Given the description of an element on the screen output the (x, y) to click on. 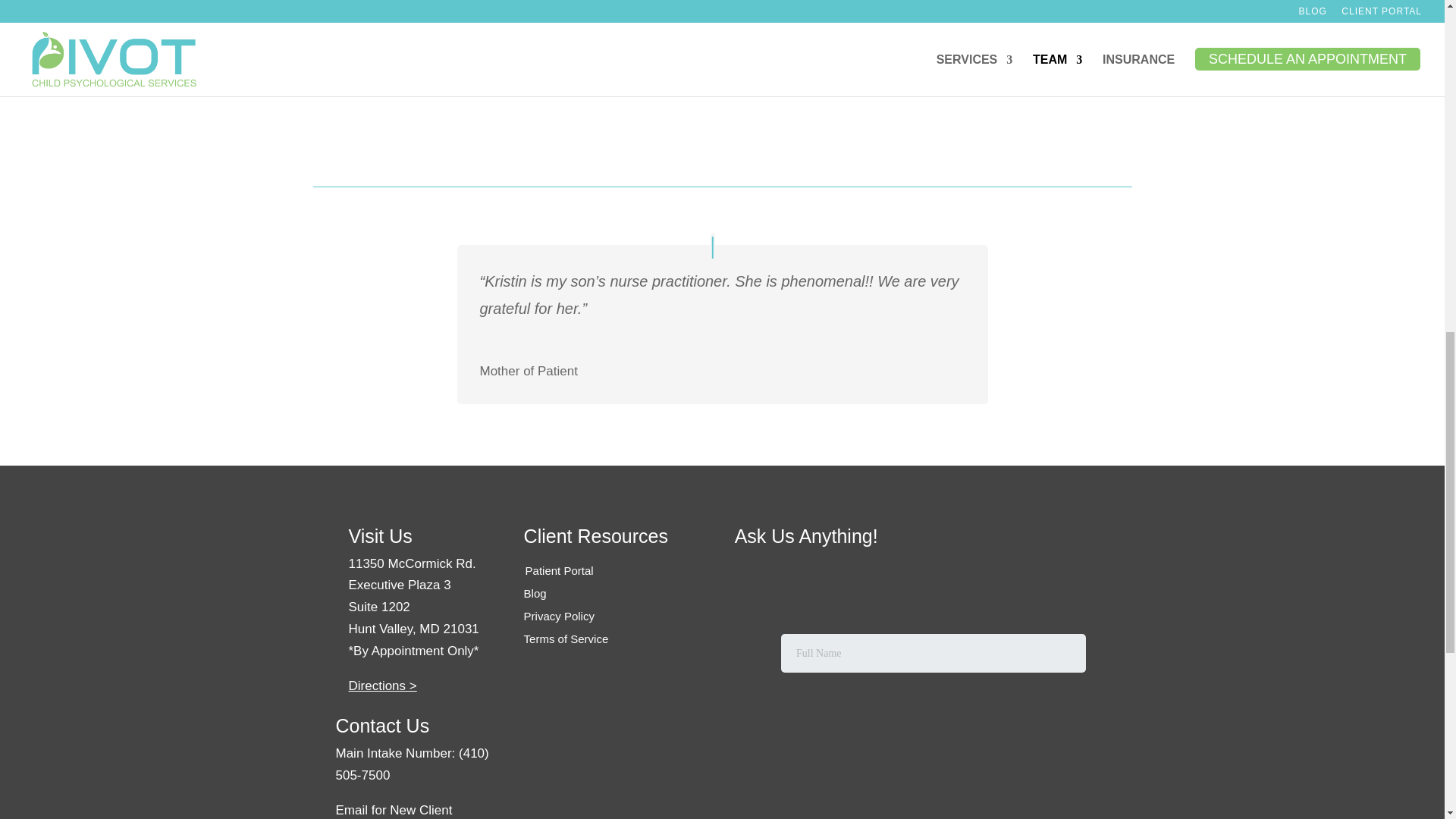
Blog (535, 593)
Privacy Policy (559, 615)
Terms of Service (566, 638)
Visit Us (380, 536)
Patient Portal (559, 570)
Contact Us (381, 725)
